Given the description of an element on the screen output the (x, y) to click on. 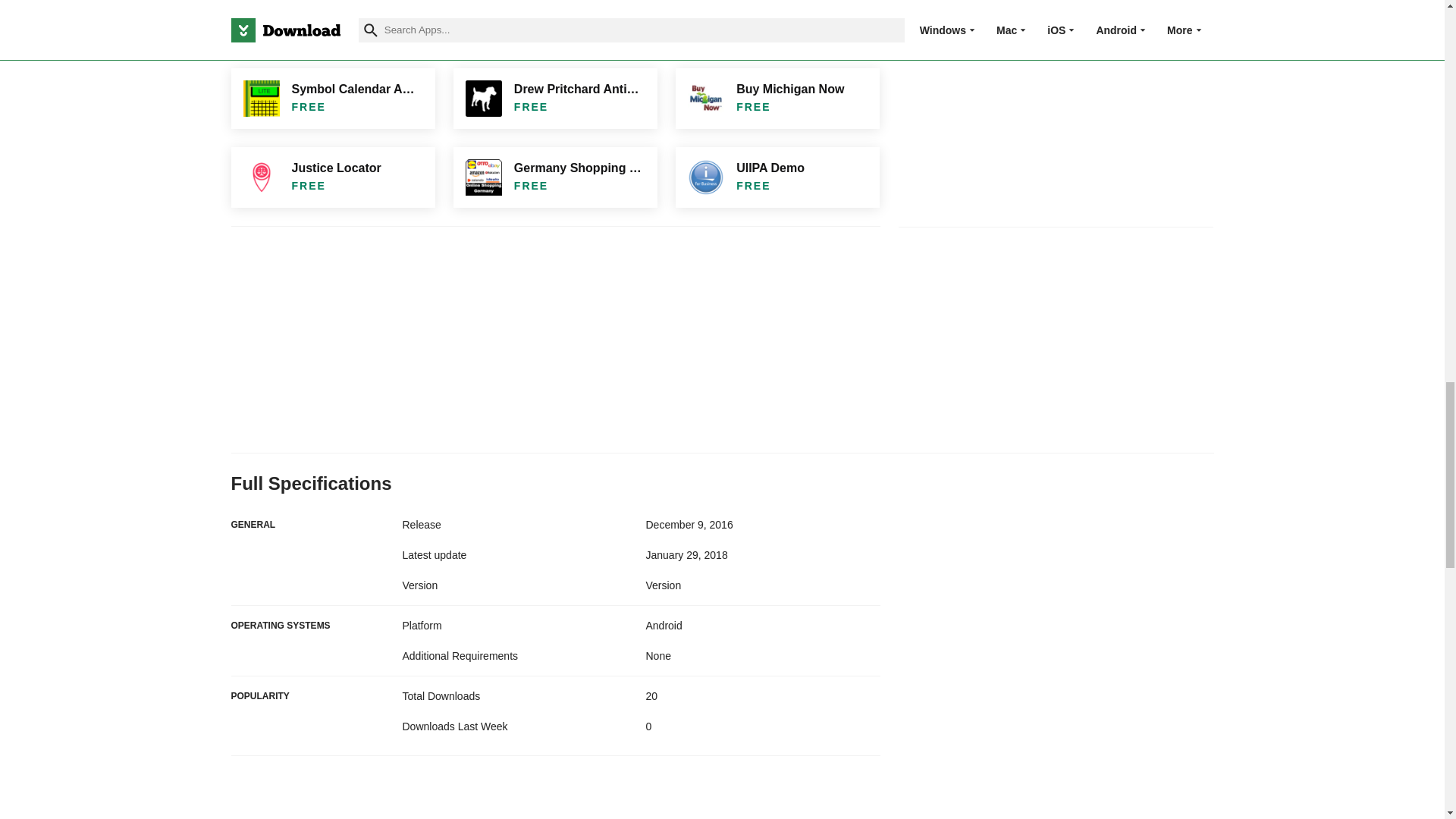
UIIPA Demo (777, 177)
Symbol Calendar AAC Lite (331, 97)
Drew Pritchard Antiques (555, 97)
Root Master (777, 24)
Buy Michigan Now (777, 97)
Save To Phone (331, 24)
Justice Locator (331, 177)
Germany Shopping - Online Shopping Germany App (555, 177)
House Wiring Electrical Diagram (555, 24)
